Given the description of an element on the screen output the (x, y) to click on. 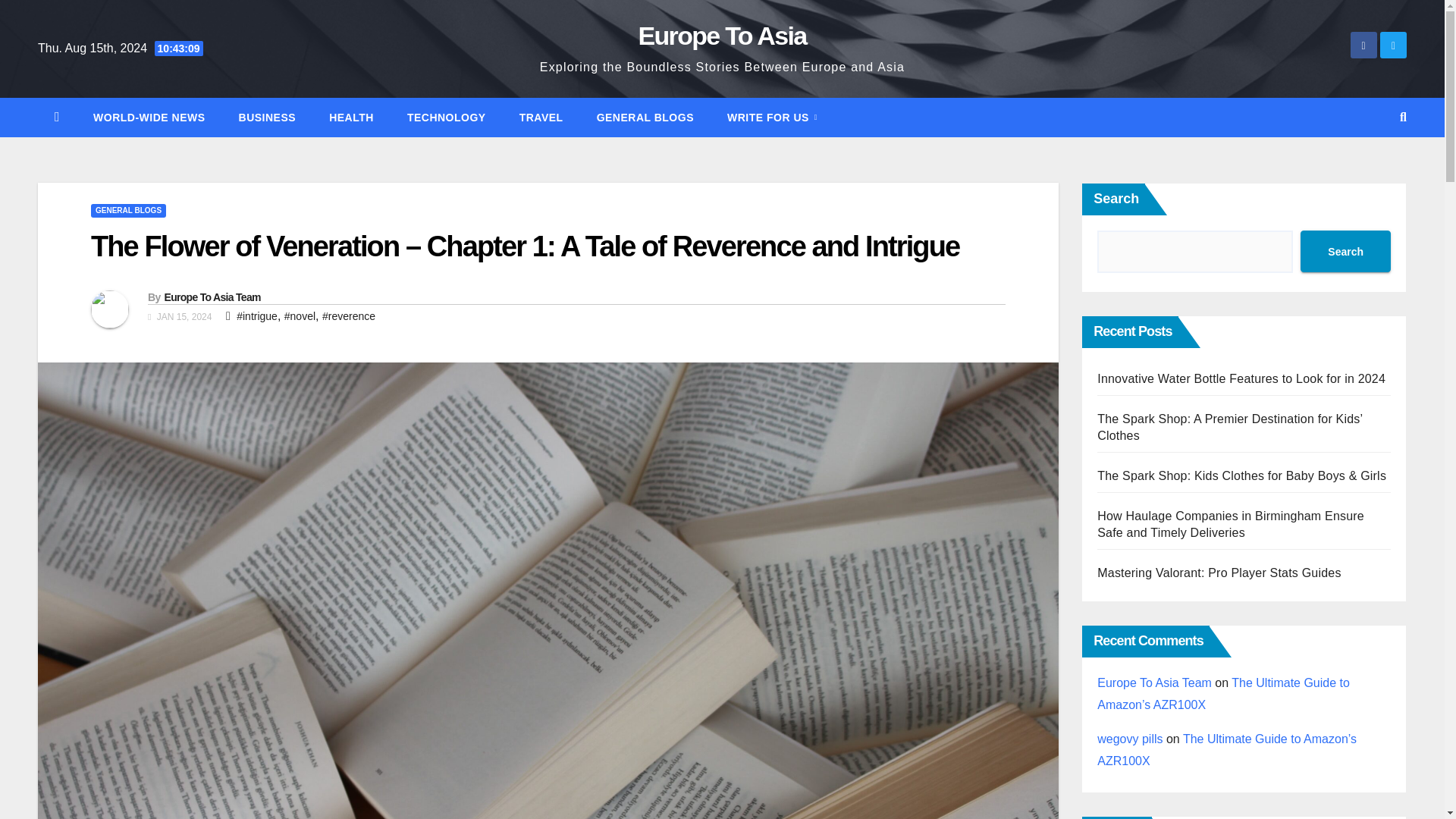
World-wide News (149, 117)
TECHNOLOGY (446, 117)
Europe To Asia Team (211, 297)
Write For US (772, 117)
GENERAL BLOGS (644, 117)
GENERAL BLOGS (127, 210)
TRAVEL (540, 117)
HEALTH (351, 117)
Europe To Asia (722, 35)
Travel (540, 117)
